Given the description of an element on the screen output the (x, y) to click on. 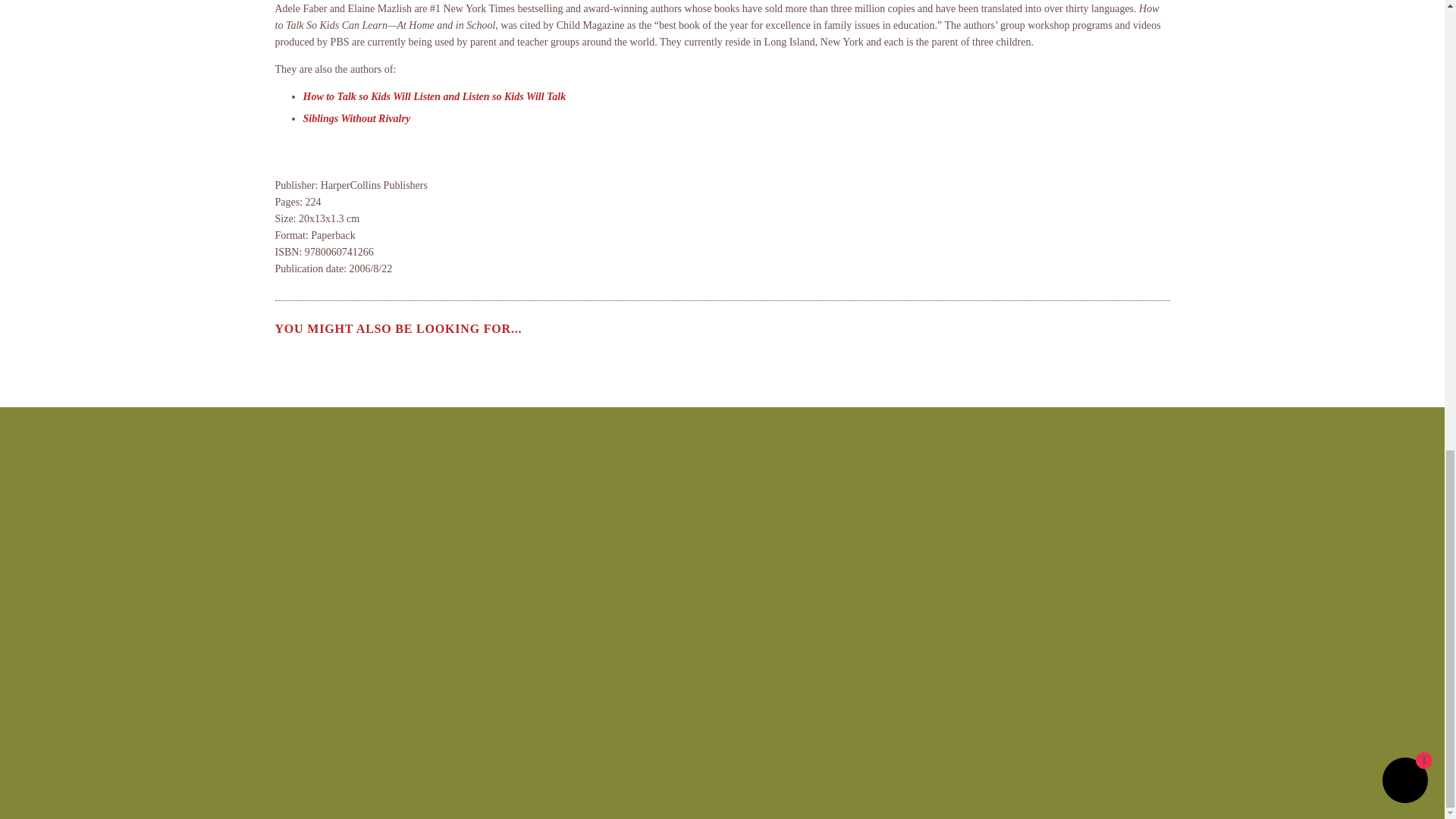
How to Talk so Kids Will Listen and Listen so Kids Will Talk (434, 96)
